Given the description of an element on the screen output the (x, y) to click on. 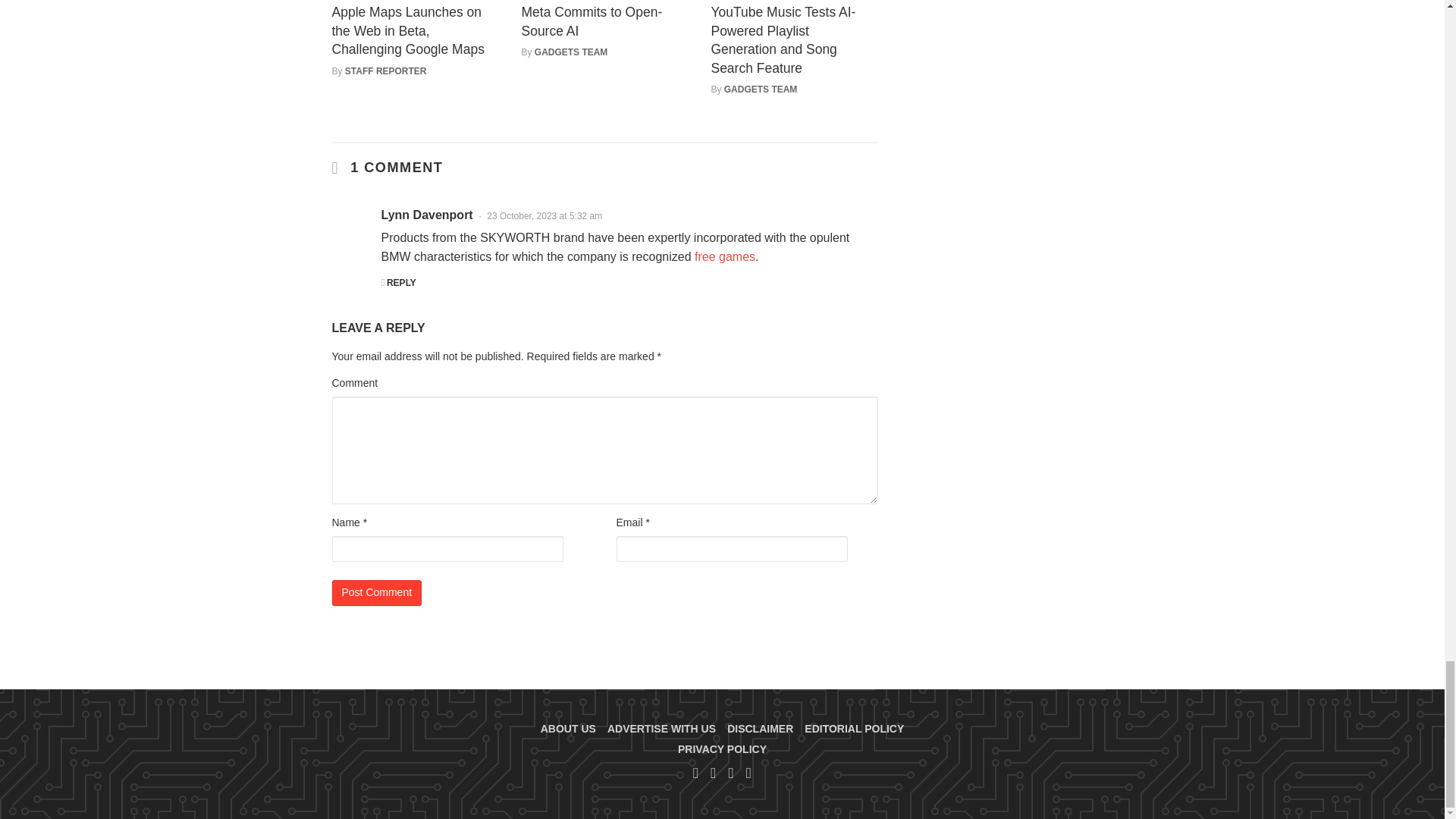
Post Comment (376, 592)
